Given the description of an element on the screen output the (x, y) to click on. 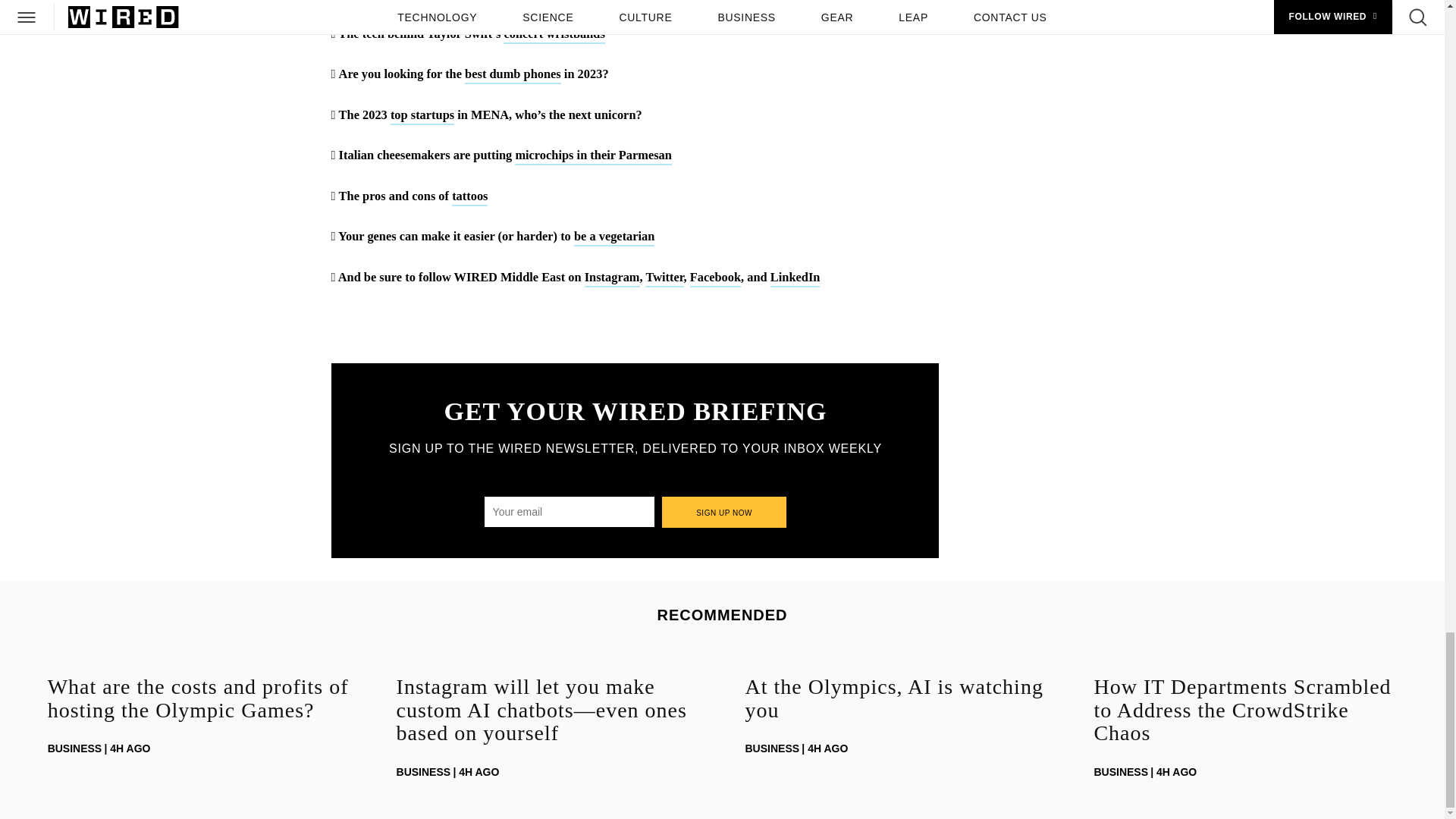
concert wristbands (553, 35)
top startups (422, 116)
tattoos (469, 197)
Instagram (612, 278)
Sign up now (724, 511)
be a vegetarian (614, 237)
best dumb phones (512, 75)
microchips in their Parmesan (593, 156)
Twitter (663, 278)
